Given the description of an element on the screen output the (x, y) to click on. 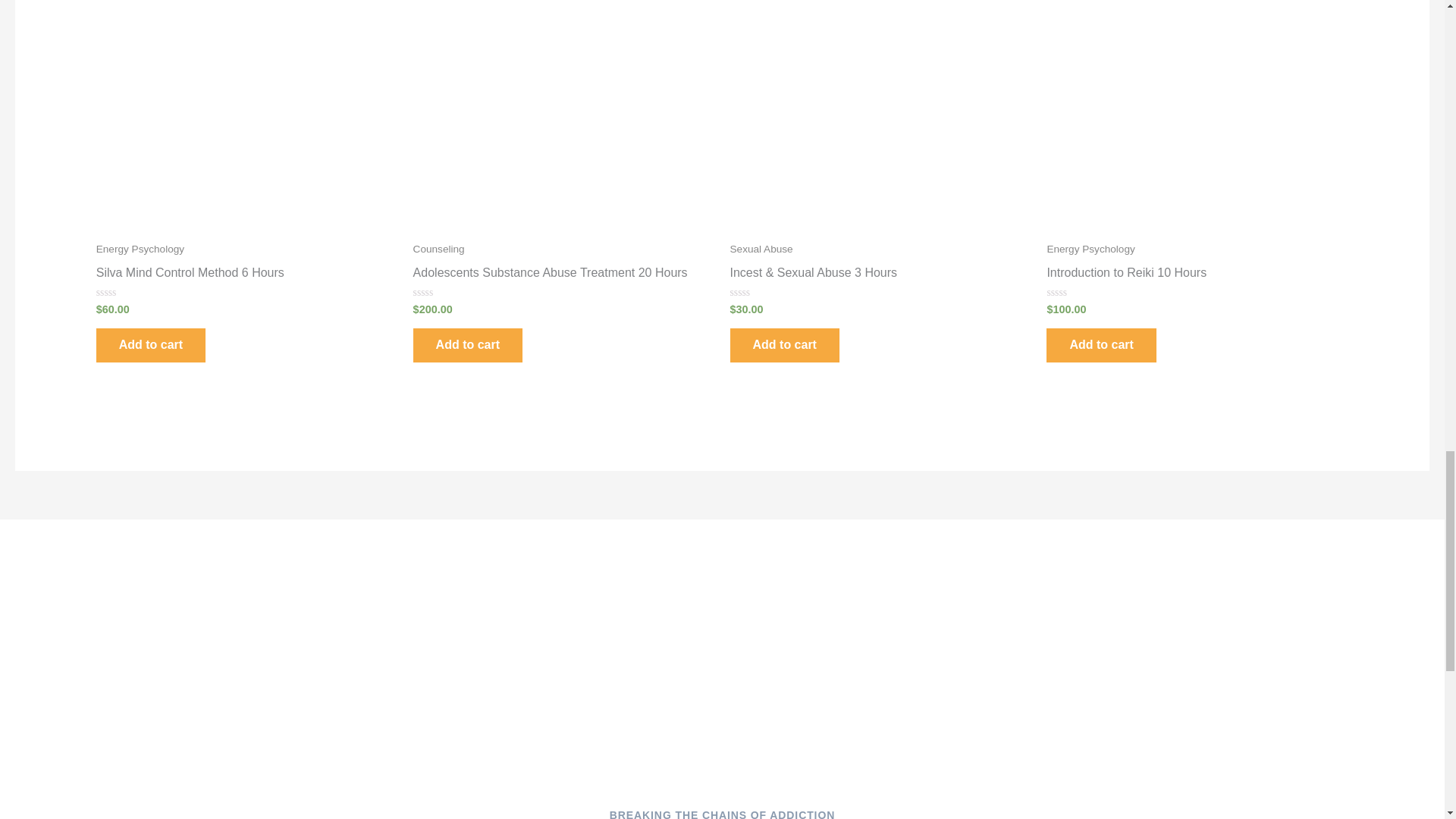
Add to cart (1101, 345)
Add to cart (783, 345)
Adolescents Substance Abuse Treatment 20 Hours (563, 276)
Introduction to Reiki 10 Hours (1197, 276)
Add to cart (150, 345)
Silva Mind Control Method 6 Hours (246, 276)
Add to cart (467, 345)
